Given the description of an element on the screen output the (x, y) to click on. 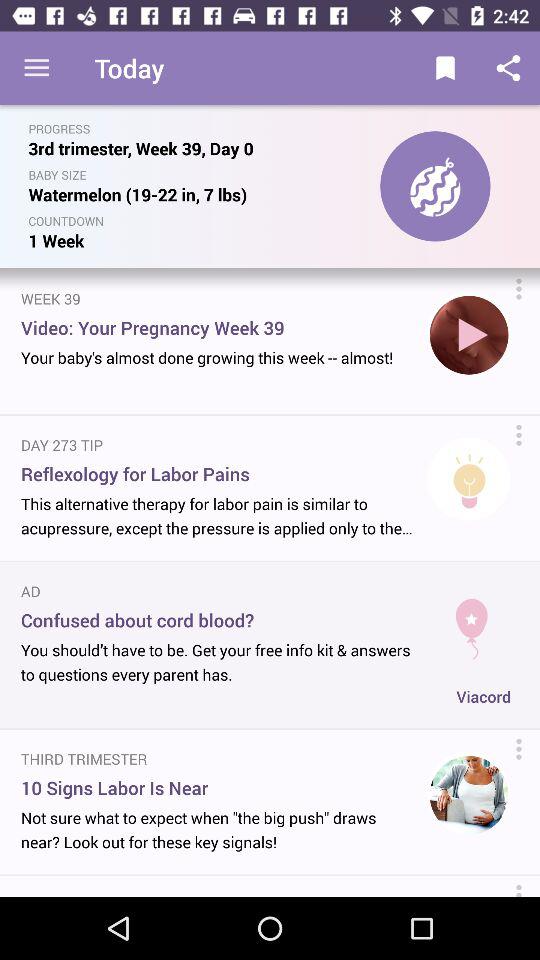
turn on item above viacord item (471, 620)
